Given the description of an element on the screen output the (x, y) to click on. 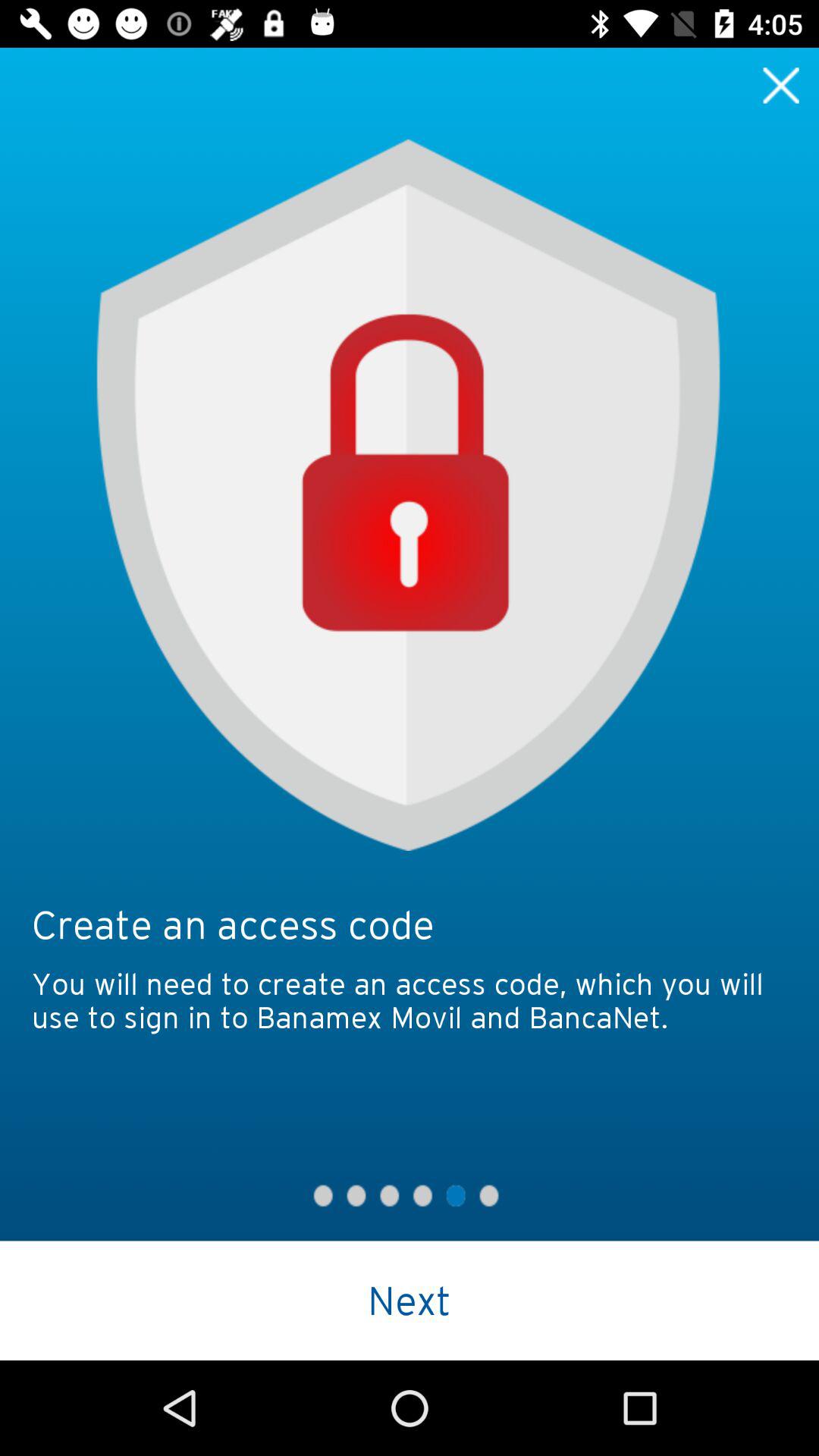
exit (781, 85)
